Given the description of an element on the screen output the (x, y) to click on. 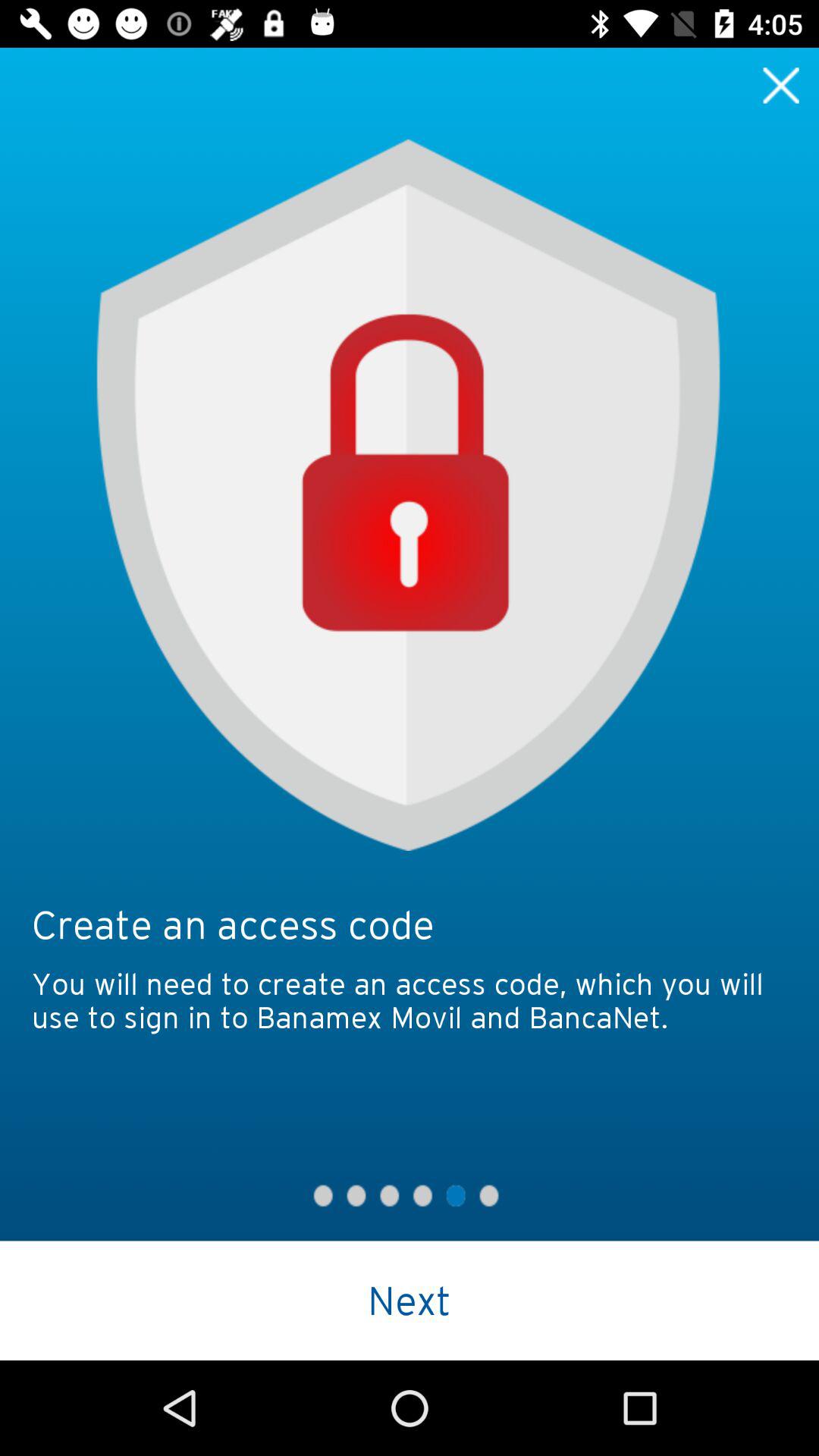
exit (781, 85)
